Given the description of an element on the screen output the (x, y) to click on. 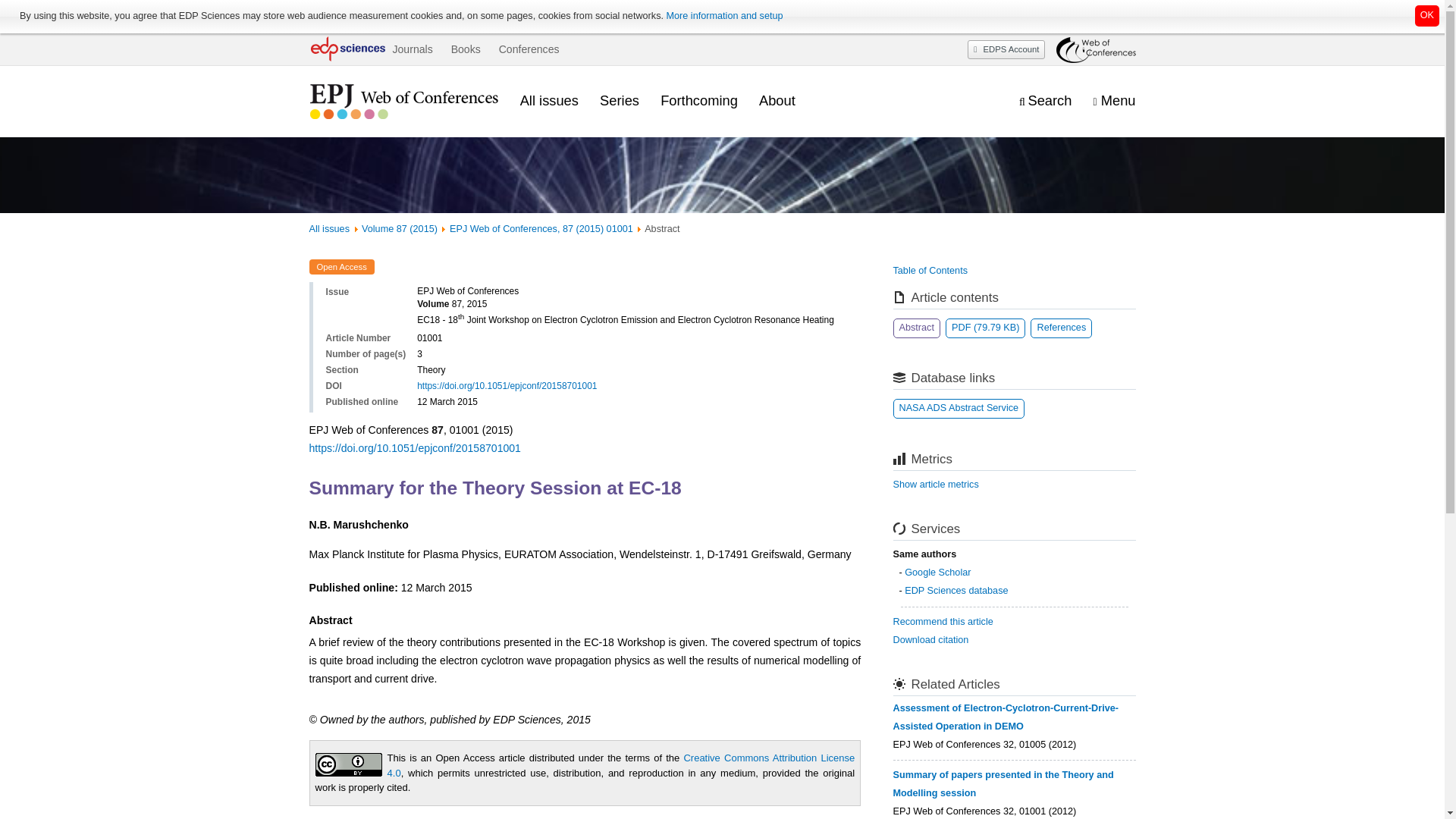
Journals (411, 49)
Display the search engine (1045, 101)
Journal homepage (403, 101)
Click to close this notification (1427, 15)
Books (465, 49)
More information and setup (724, 15)
OK (1427, 15)
Conferences (529, 49)
Abstract (916, 328)
